Given the description of an element on the screen output the (x, y) to click on. 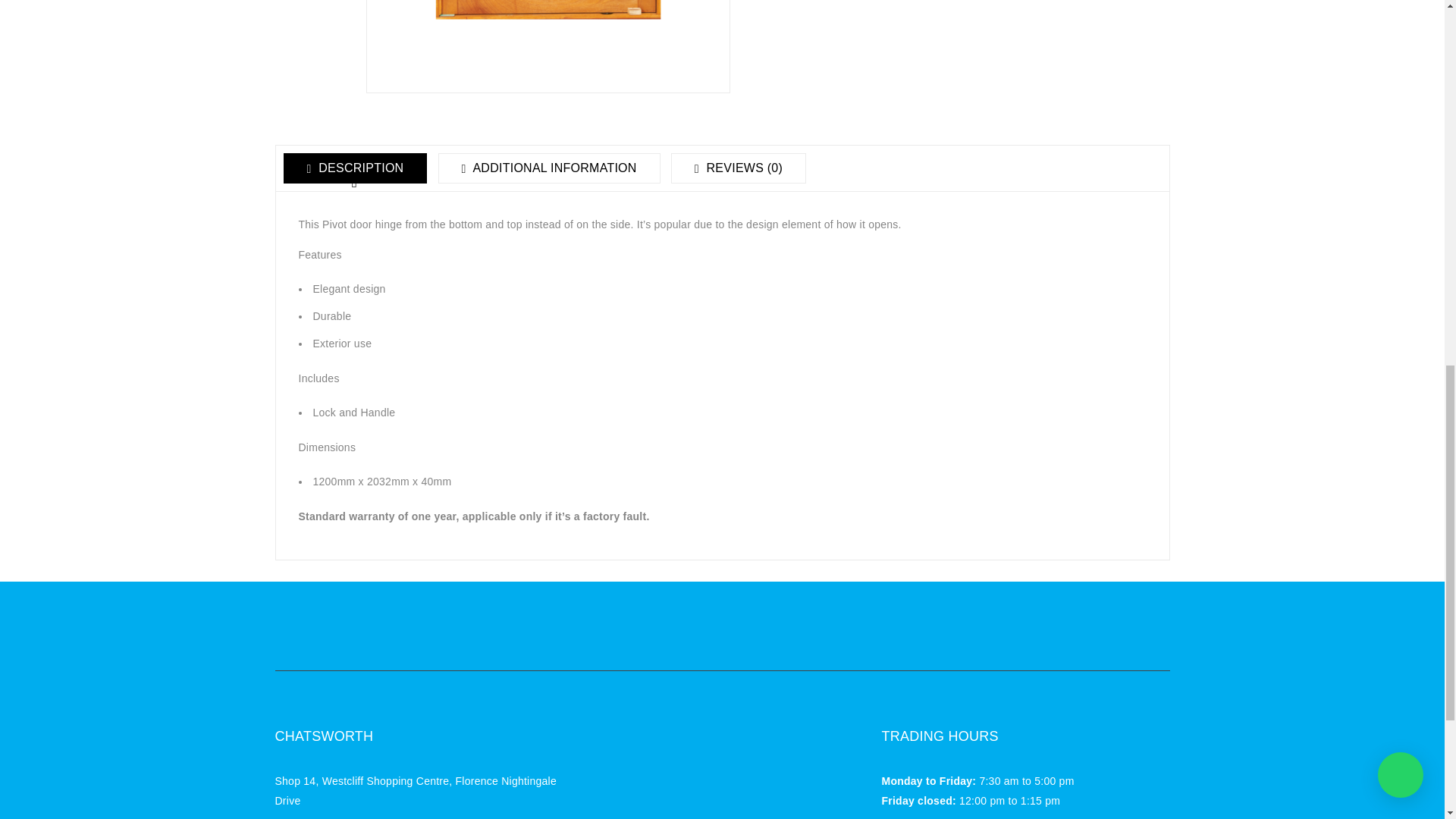
Untitled-design-19 (547, 46)
